Given the description of an element on the screen output the (x, y) to click on. 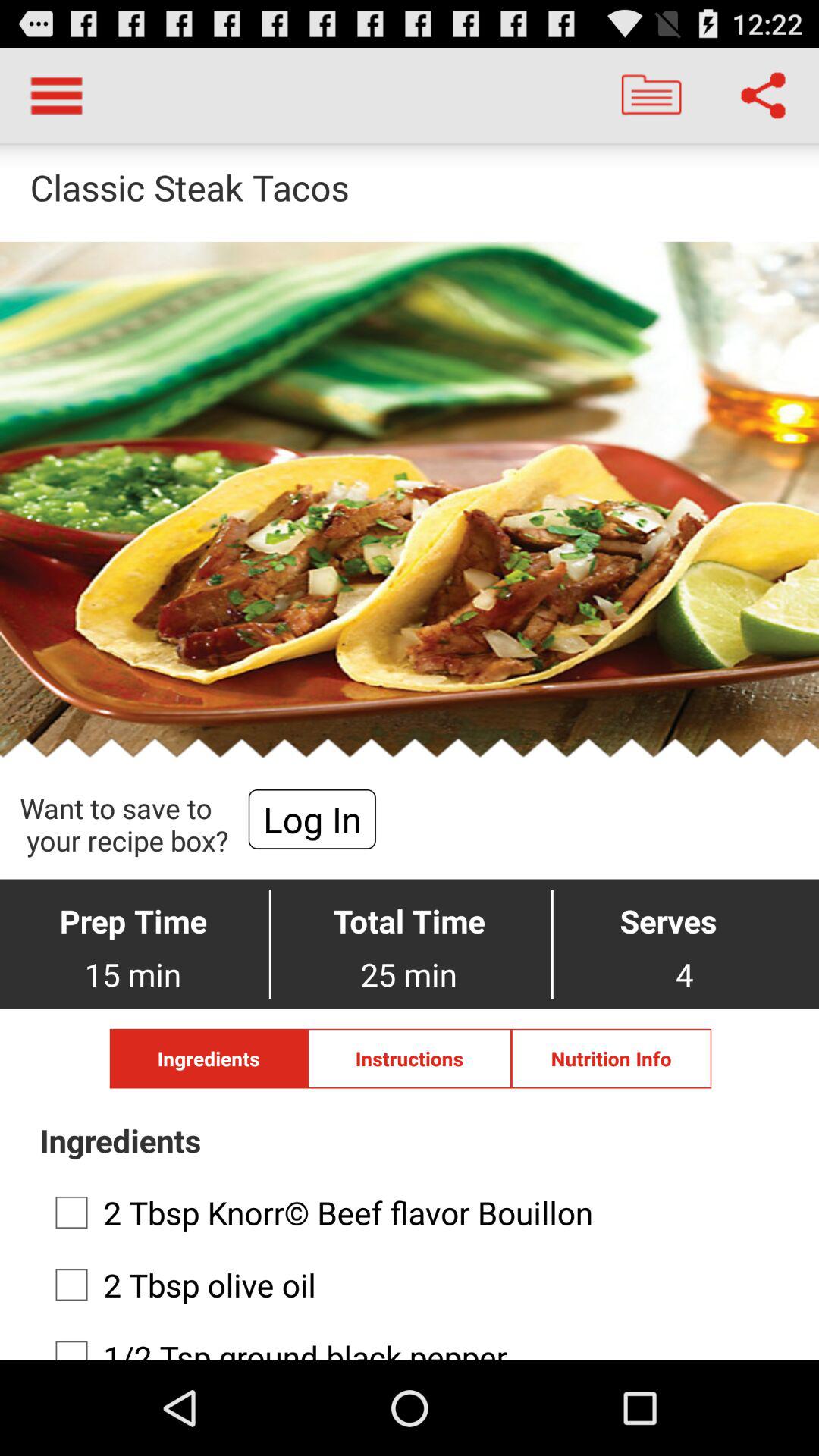
turn off icon below the 2 tbsp olive (404, 1342)
